Given the description of an element on the screen output the (x, y) to click on. 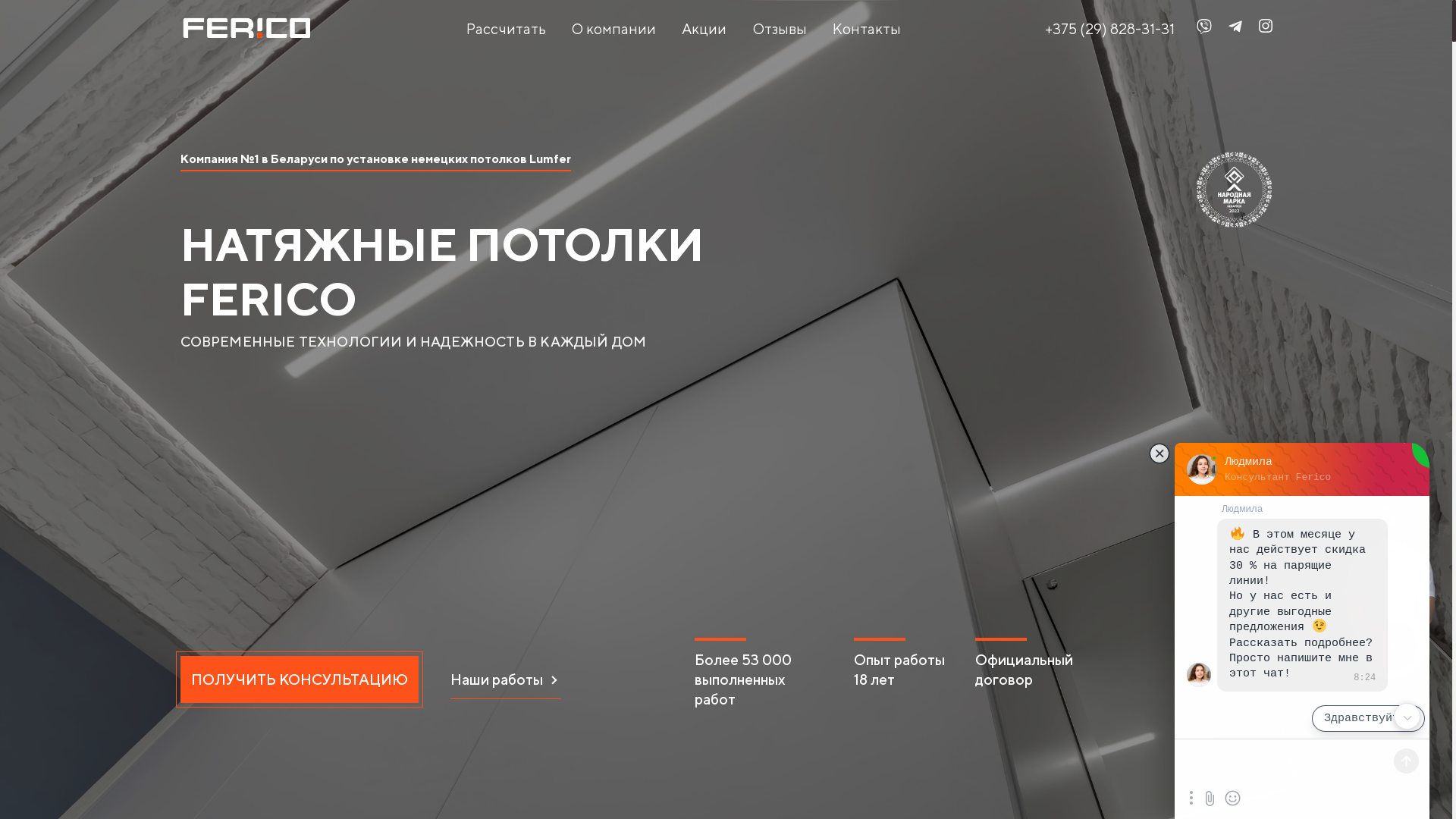
ferico.by Element type: hover (245, 26)
+375 (29) 828-31-31 Element type: text (1111, 28)
